Given the description of an element on the screen output the (x, y) to click on. 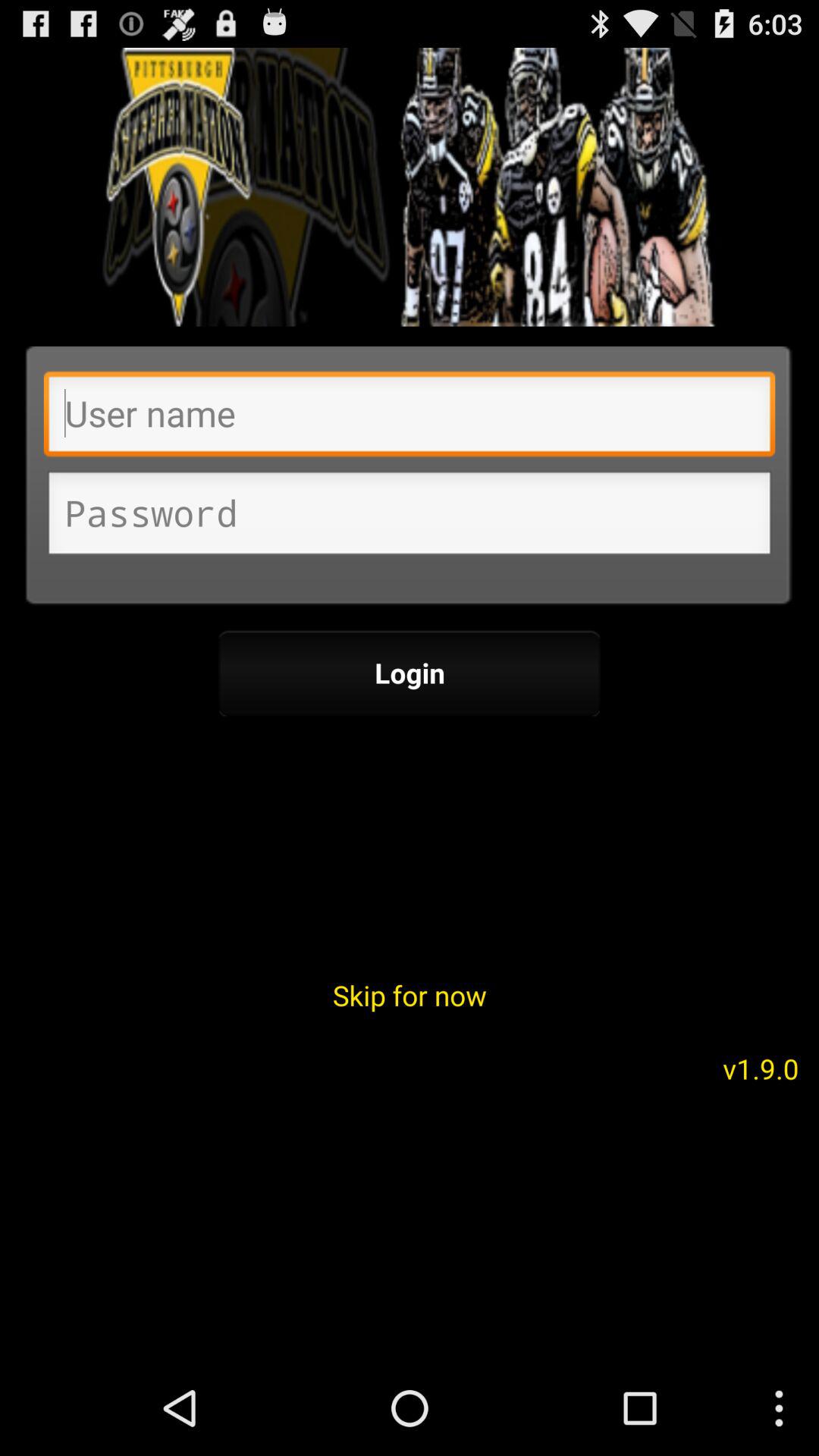
password information (409, 517)
